Given the description of an element on the screen output the (x, y) to click on. 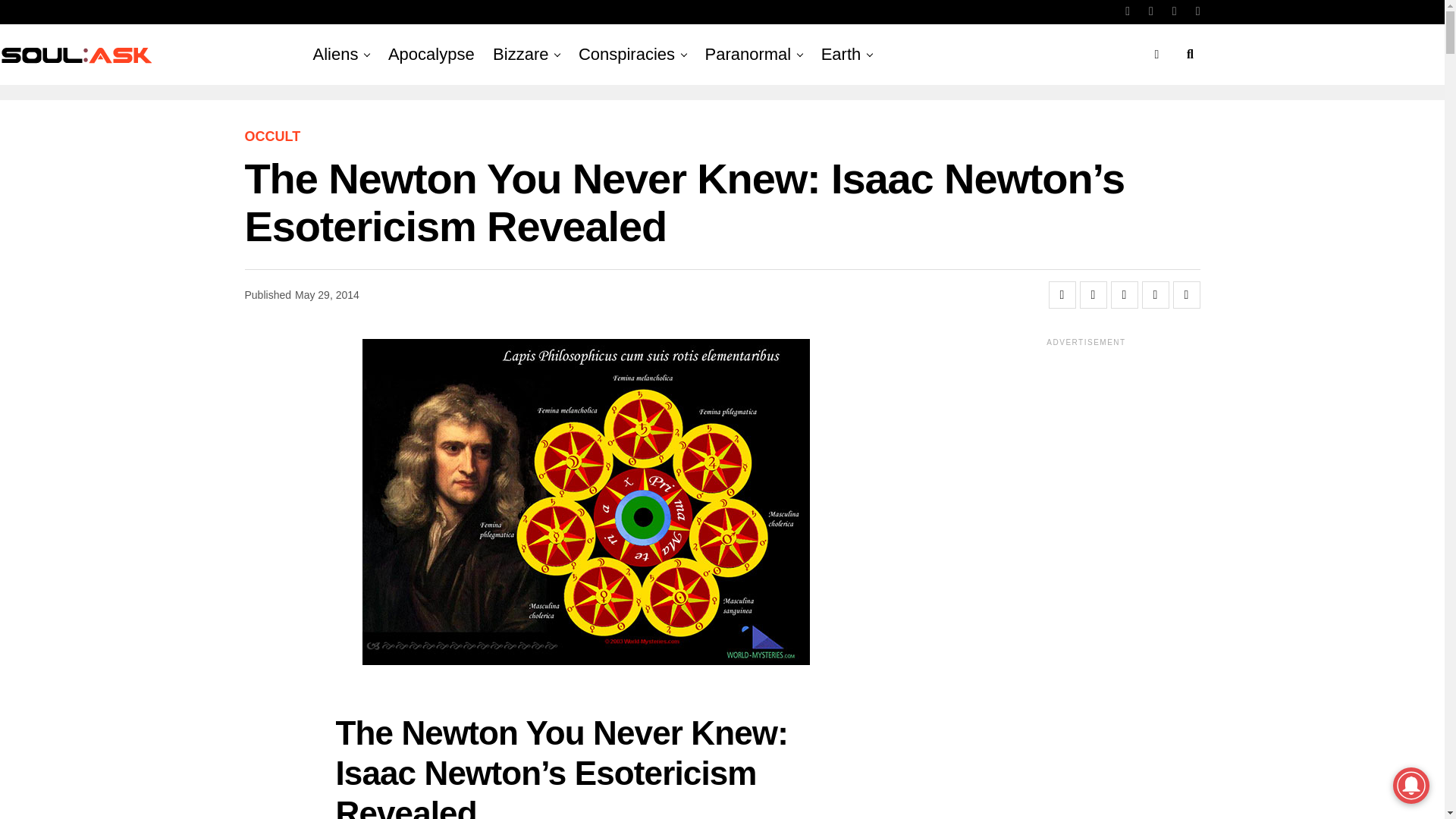
Tweet This Post (1093, 294)
Share on Facebook (1061, 294)
